Given the description of an element on the screen output the (x, y) to click on. 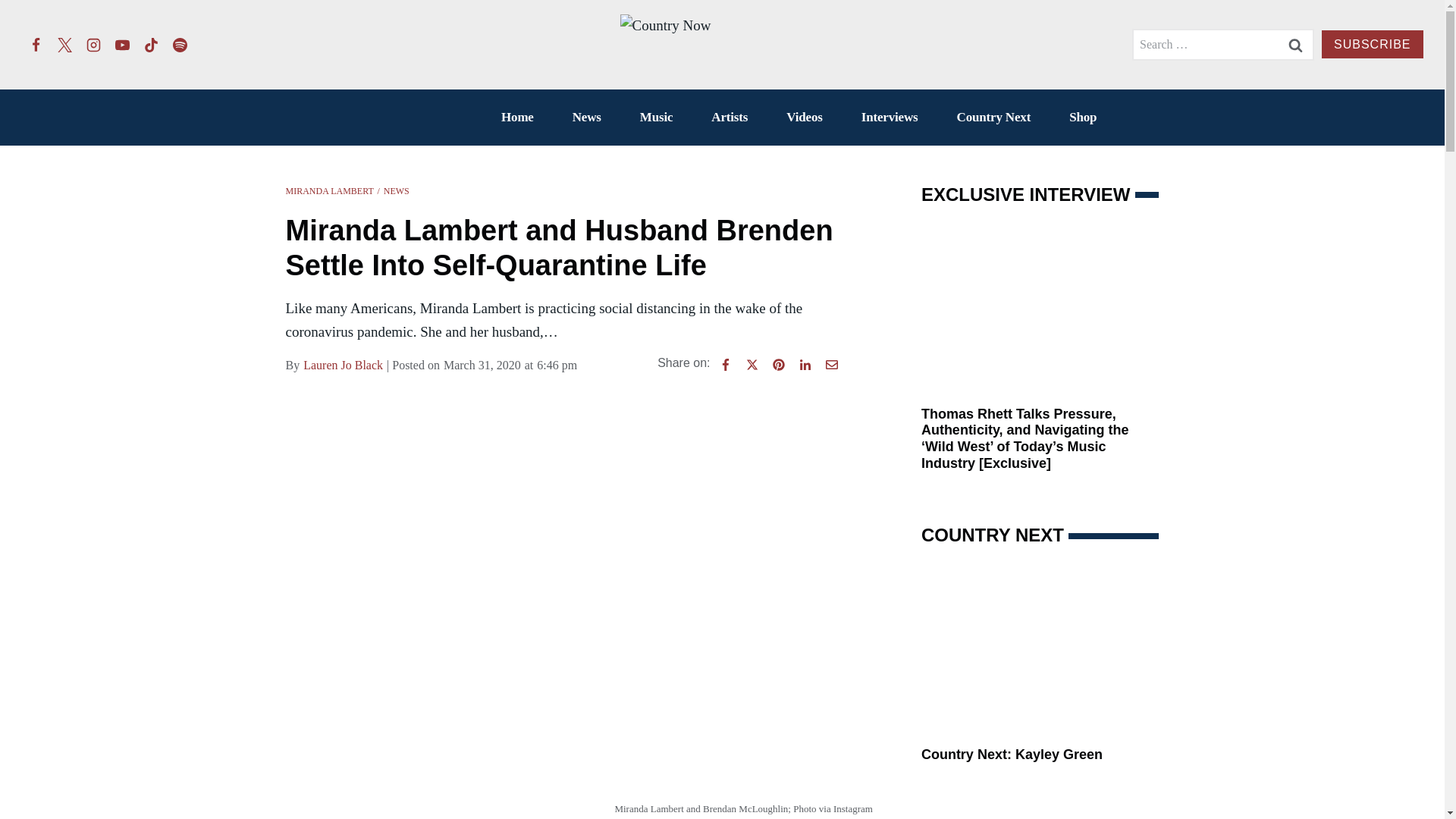
Home (517, 117)
SUBSCRIBE (1372, 44)
Artists (730, 117)
Search (1295, 44)
Country Next (993, 117)
Interviews (889, 117)
MIRANDA LAMBERT (328, 190)
Videos (804, 117)
Music (656, 117)
Search (1295, 44)
